Given the description of an element on the screen output the (x, y) to click on. 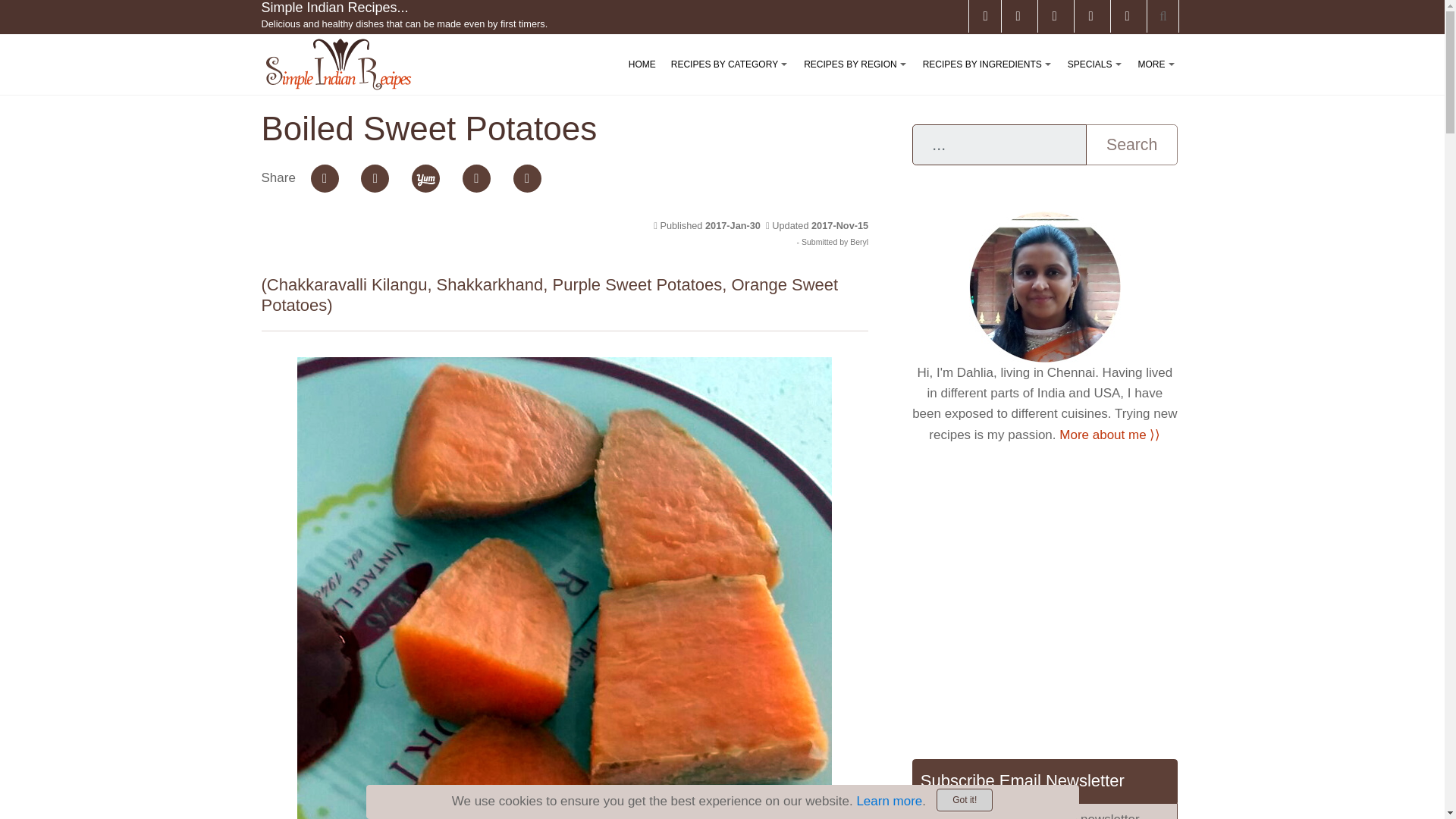
Share on Yummly (425, 178)
Print (527, 178)
Share on Facebook (325, 178)
Simple Indian Recipes (337, 64)
Email (476, 178)
Search (1131, 144)
Advertisement (1044, 601)
Share on Twitter (374, 178)
